Given the description of an element on the screen output the (x, y) to click on. 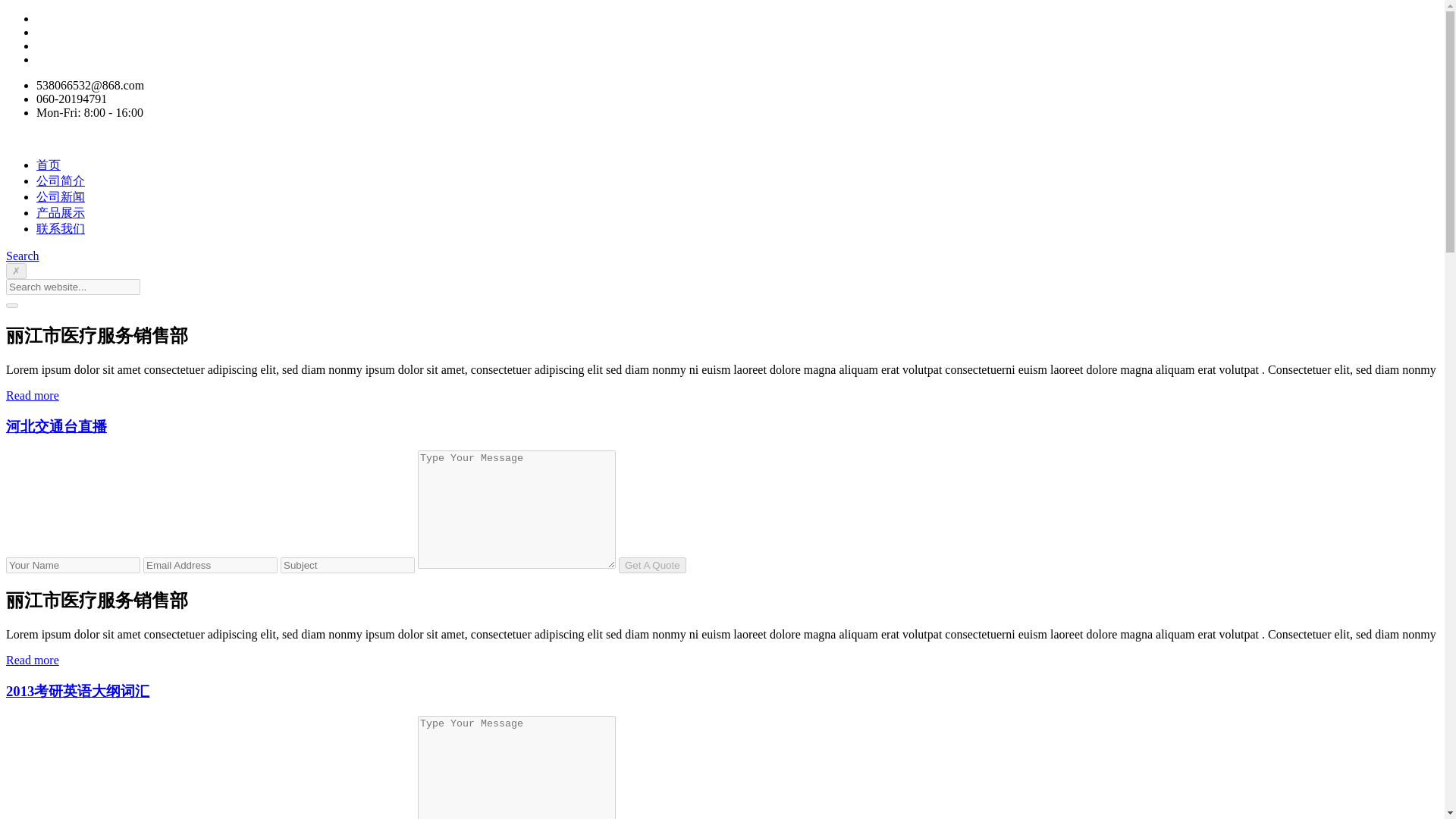
Search (22, 255)
Get A Quote (651, 565)
Get A Quote (651, 565)
Read more (32, 395)
Read more (32, 659)
